Given the description of an element on the screen output the (x, y) to click on. 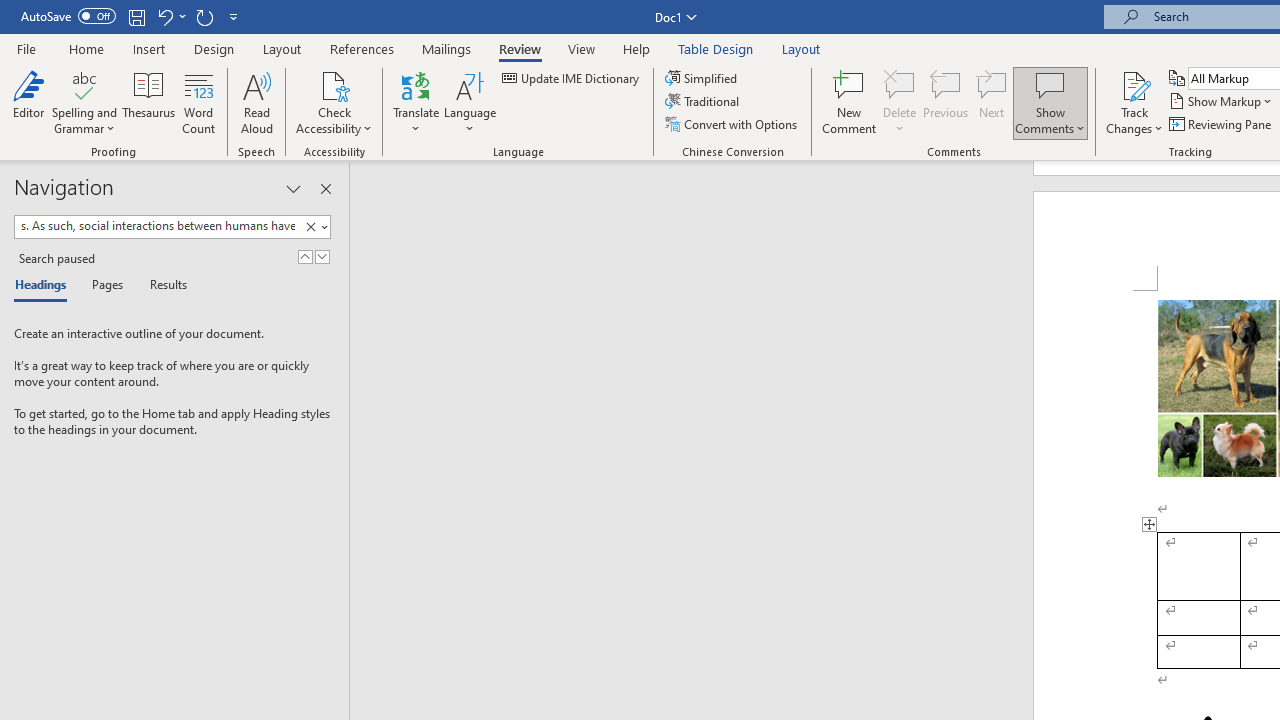
Show Comments (1050, 102)
Spelling and Grammar (84, 84)
Read Aloud (256, 102)
Next Result (322, 256)
Search document (157, 226)
Undo Style (170, 15)
Table Design (715, 48)
Track Changes (1134, 84)
